Given the description of an element on the screen output the (x, y) to click on. 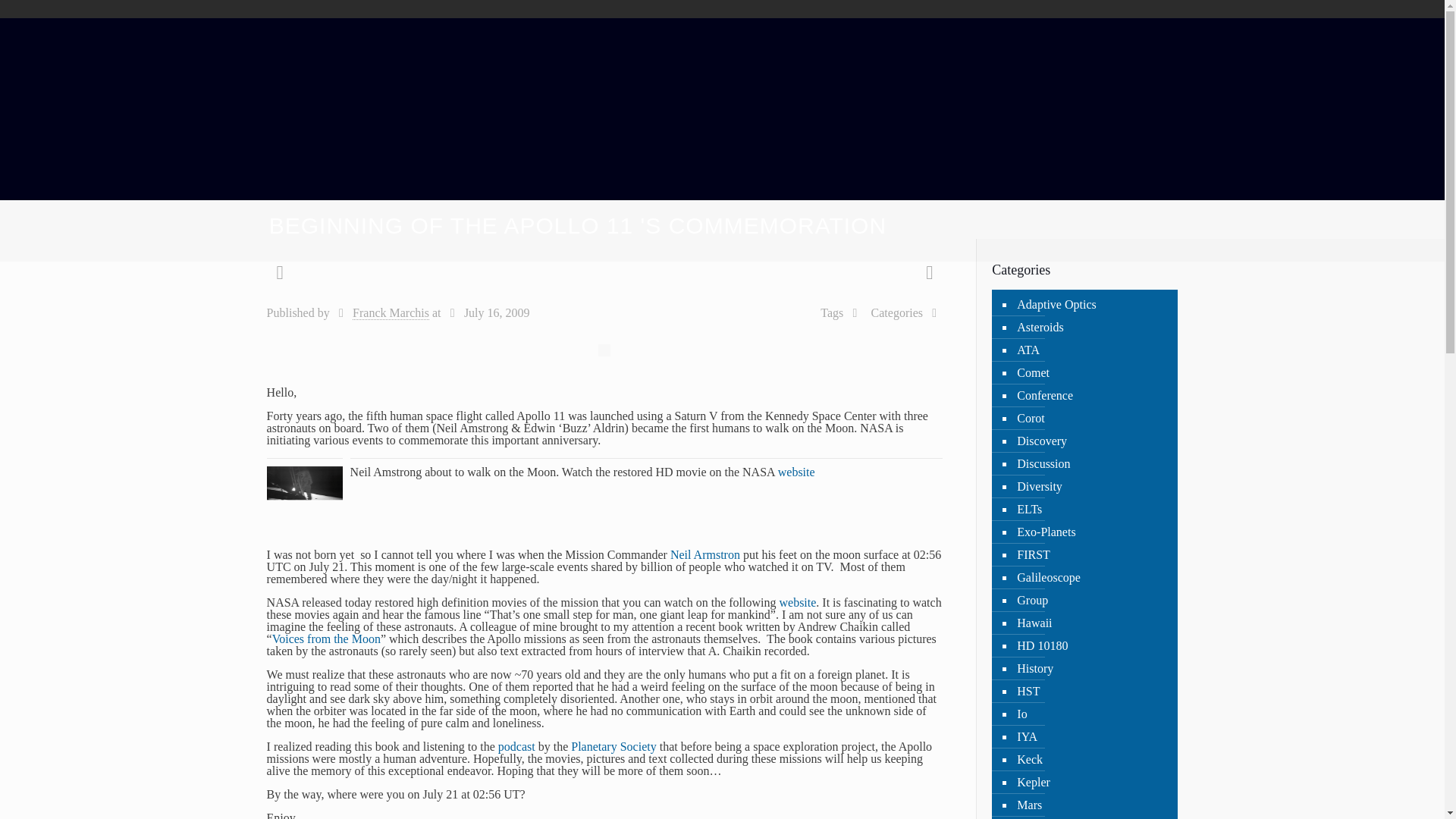
Neil Armstrong (704, 554)
